Given the description of an element on the screen output the (x, y) to click on. 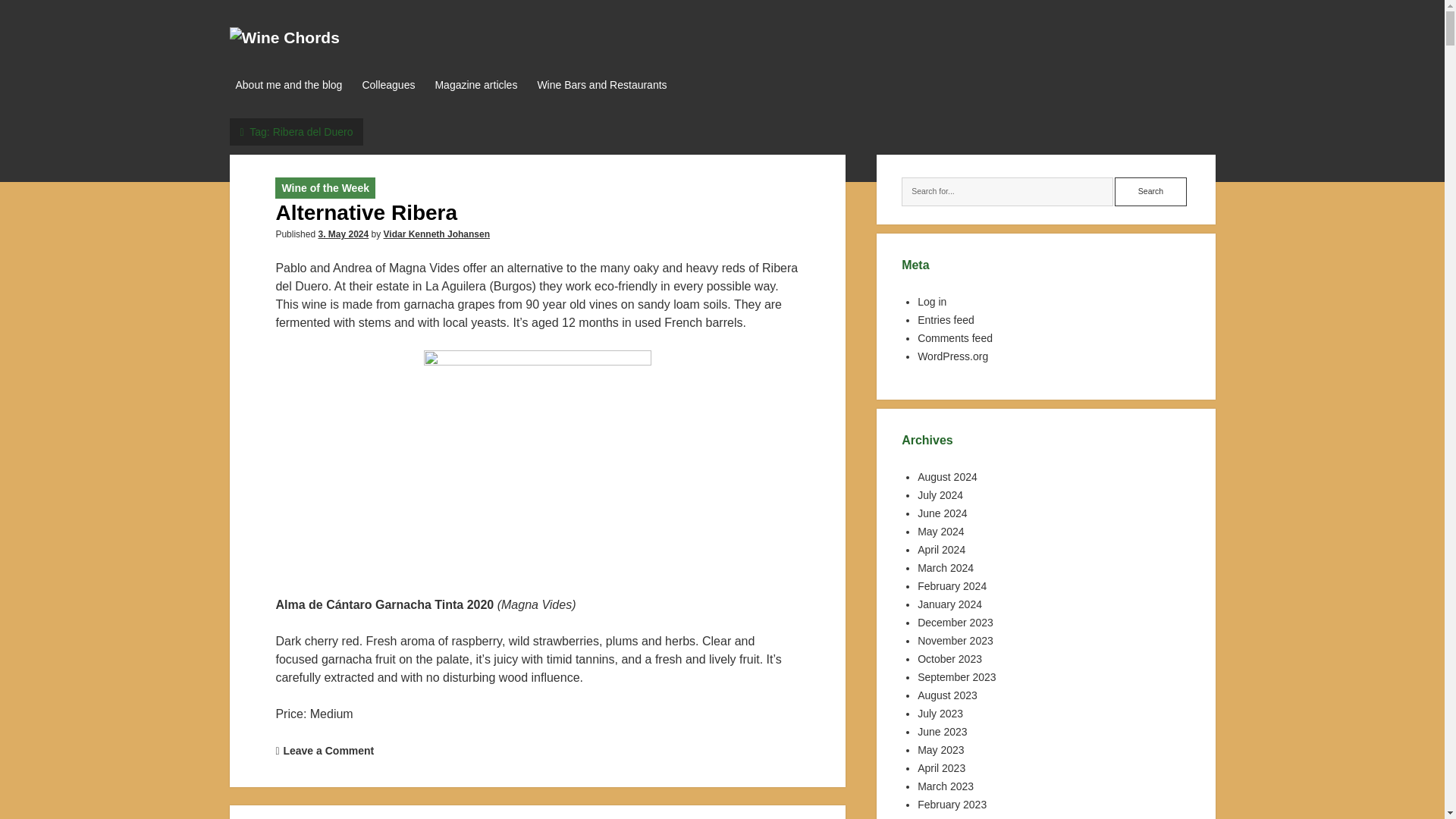
Search (1150, 191)
About me and the blog (287, 85)
Magazine articles (475, 85)
Colleagues (387, 85)
View all posts in Wine of the Week (325, 187)
Leave a Comment (328, 750)
Vidar Kenneth Johansen (436, 234)
Alternative Ribera (366, 212)
Wine of the Week (325, 187)
Search (1150, 191)
